Given the description of an element on the screen output the (x, y) to click on. 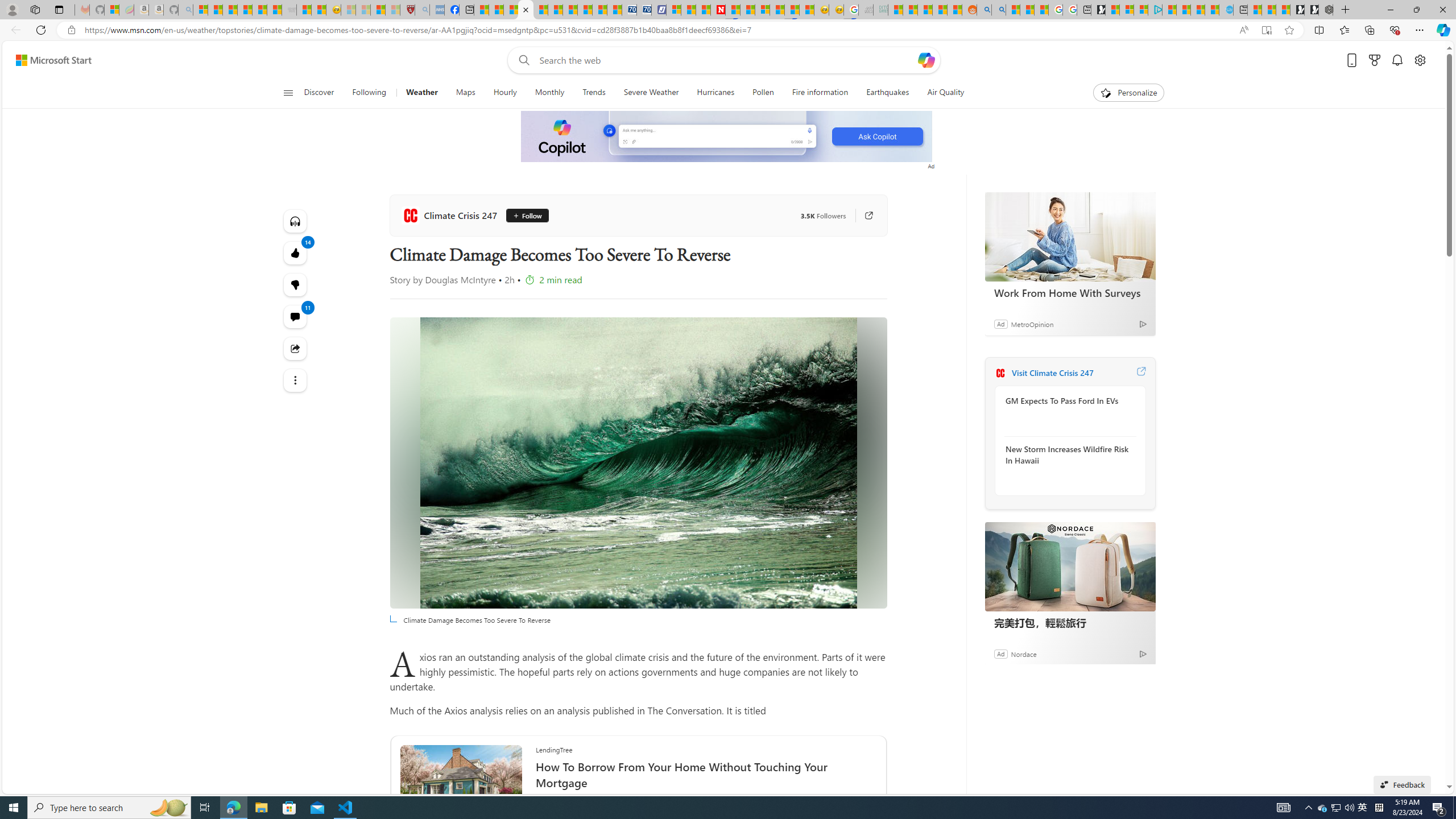
Work From Home With Surveys (1069, 292)
Climate Damage Becomes Too Severe To Reverse (638, 462)
Combat Siege - Sleeping (288, 9)
Monthly (549, 92)
Fire information (820, 92)
